Given the description of an element on the screen output the (x, y) to click on. 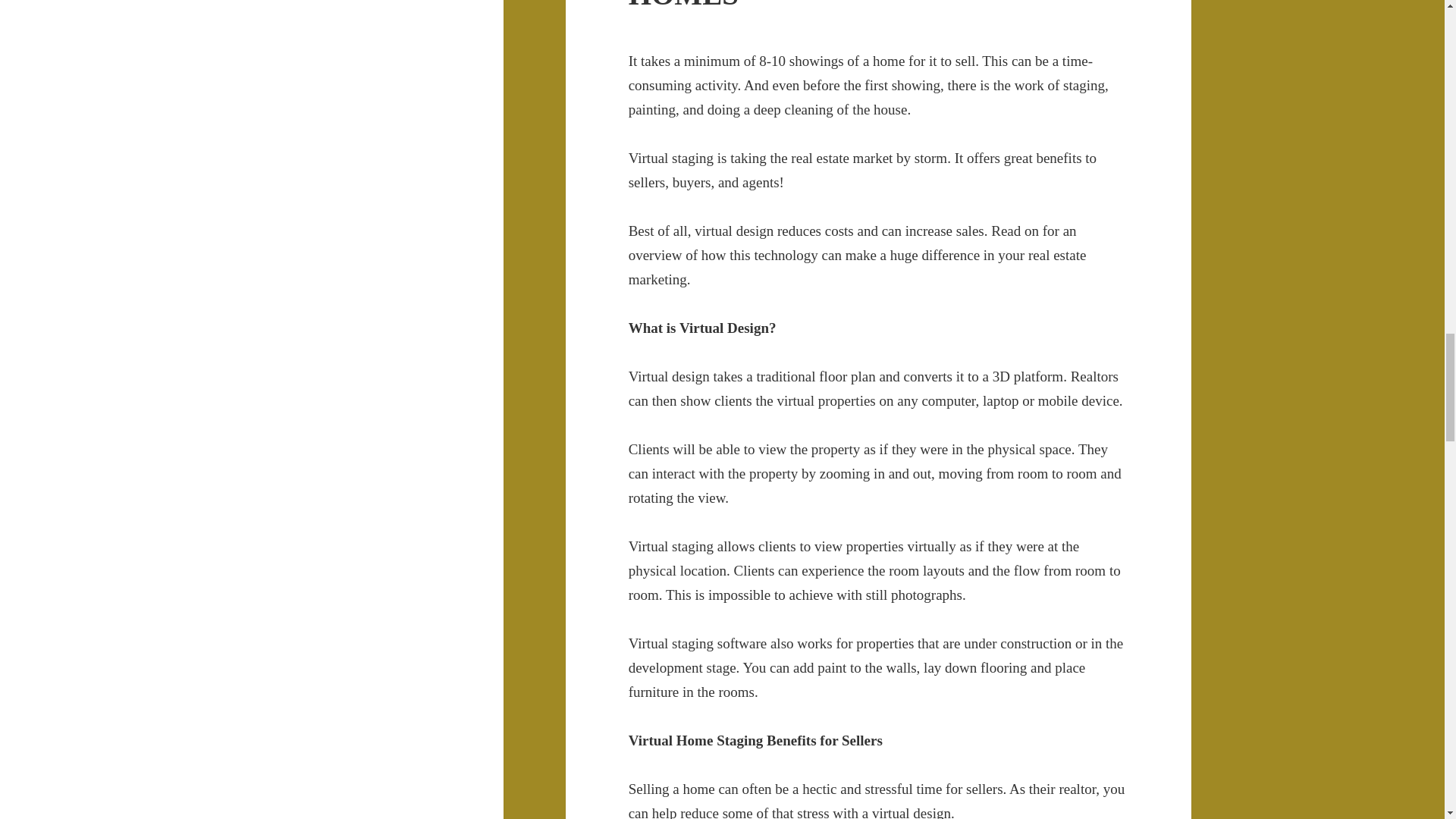
REAL ESTATE MARKETING: USING VIRTUAL DESIGN TO SELL HOMES (870, 5)
